Given the description of an element on the screen output the (x, y) to click on. 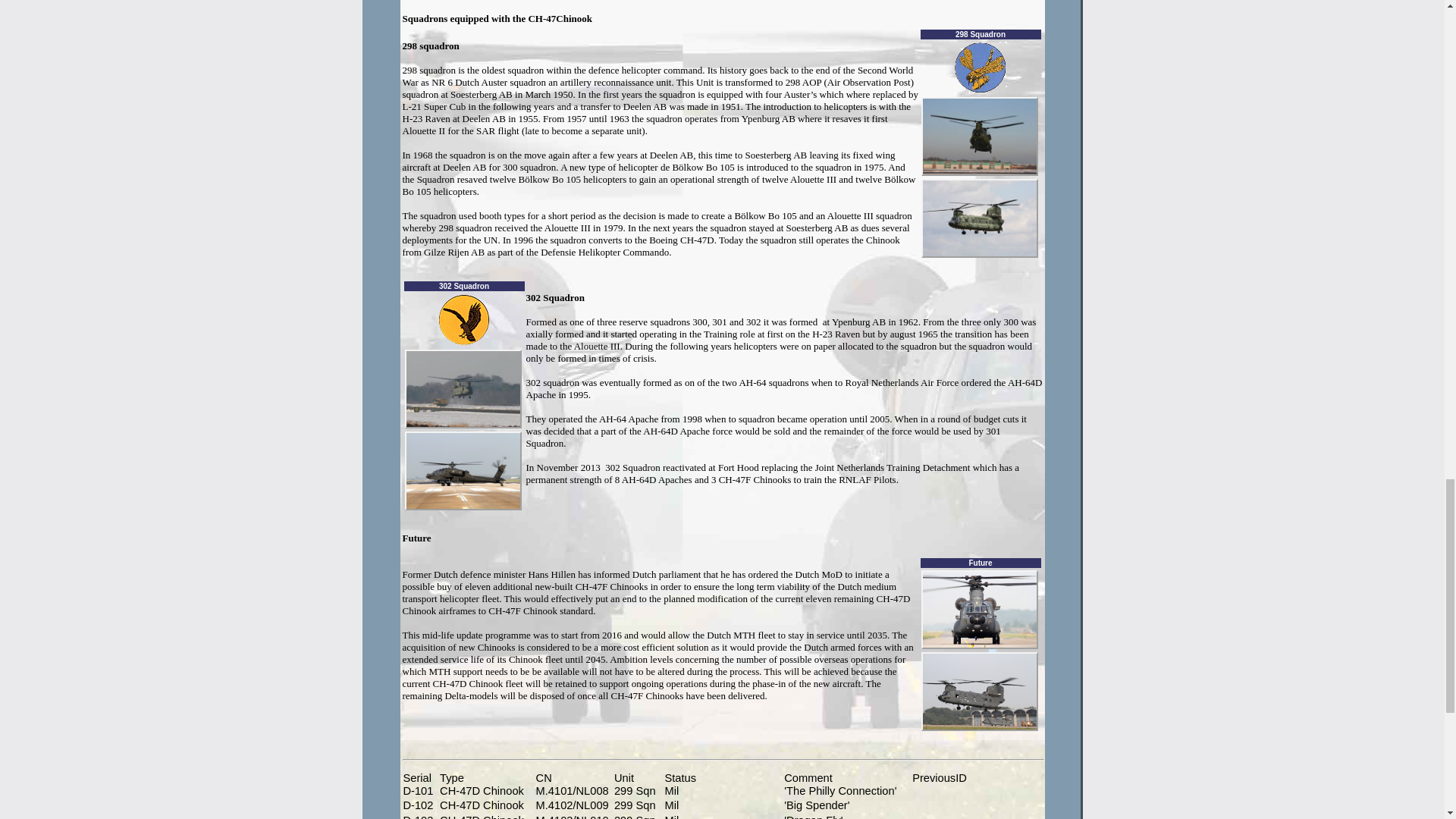
CH-47 Chinook (978, 218)
CH-47 Chinook (978, 691)
CH-47 Chinook (978, 609)
302 Squadron (464, 319)
298 Squadron (980, 67)
CH-47 Chinook (978, 136)
CH-47 Chinook (462, 388)
CH-47 Chinook (462, 470)
